Given the description of an element on the screen output the (x, y) to click on. 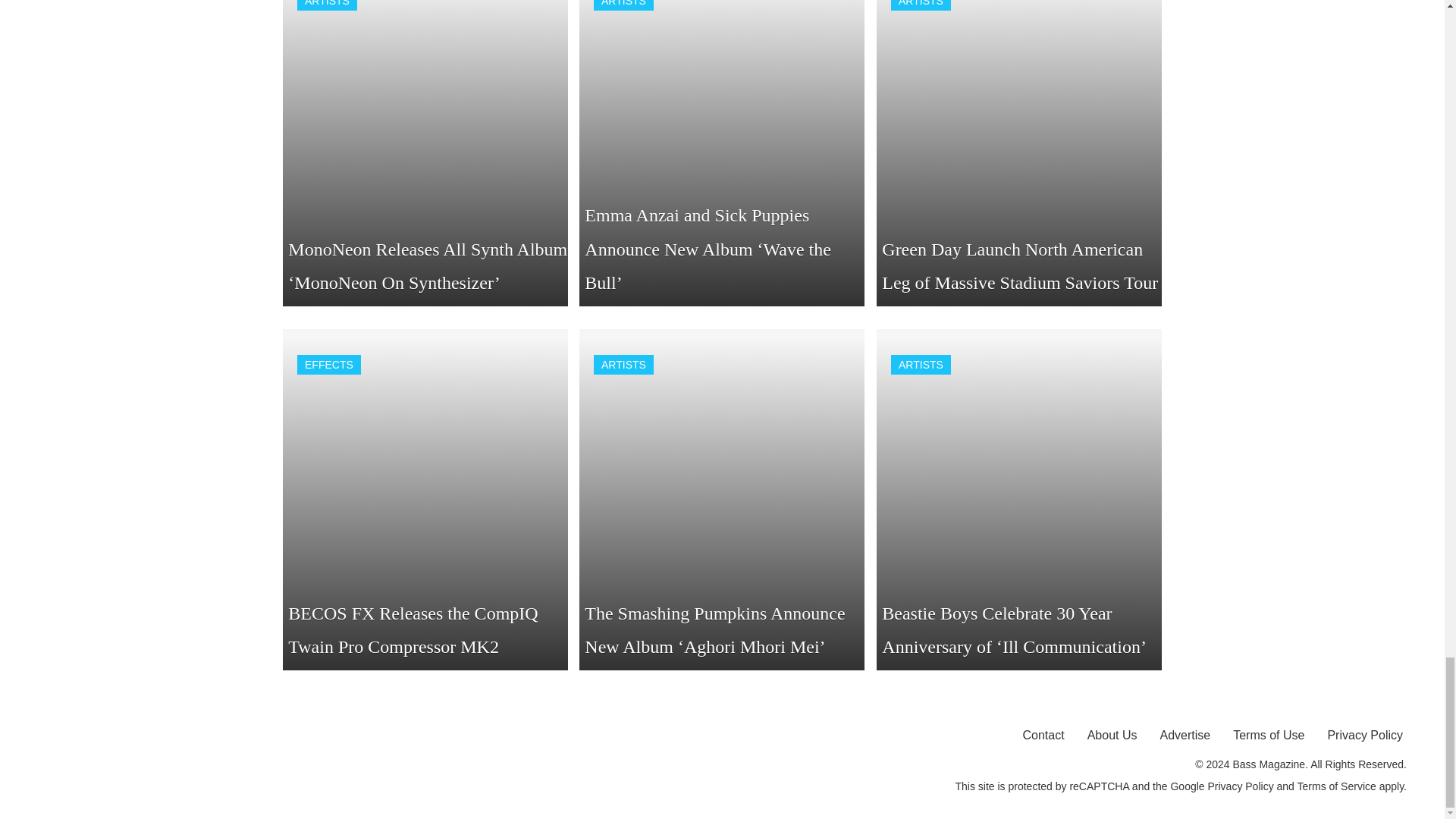
View Box Content (424, 153)
View Box Content (1018, 153)
View Box Content (721, 153)
